Given the description of an element on the screen output the (x, y) to click on. 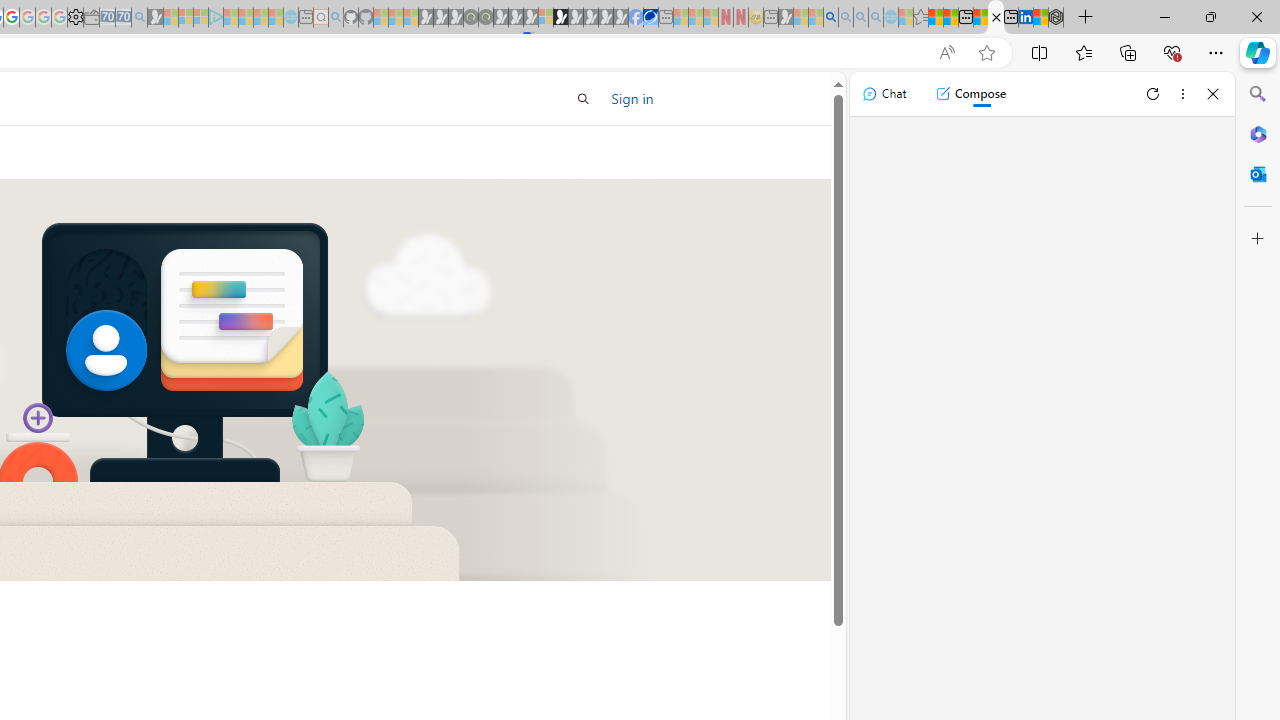
Chat (884, 93)
Bing Real Estate - Home sales and rental listings - Sleeping (139, 17)
Sign in (632, 98)
Aberdeen, Hong Kong SAR weather forecast | Microsoft Weather (950, 17)
New tab - Sleeping (771, 17)
